Given the description of an element on the screen output the (x, y) to click on. 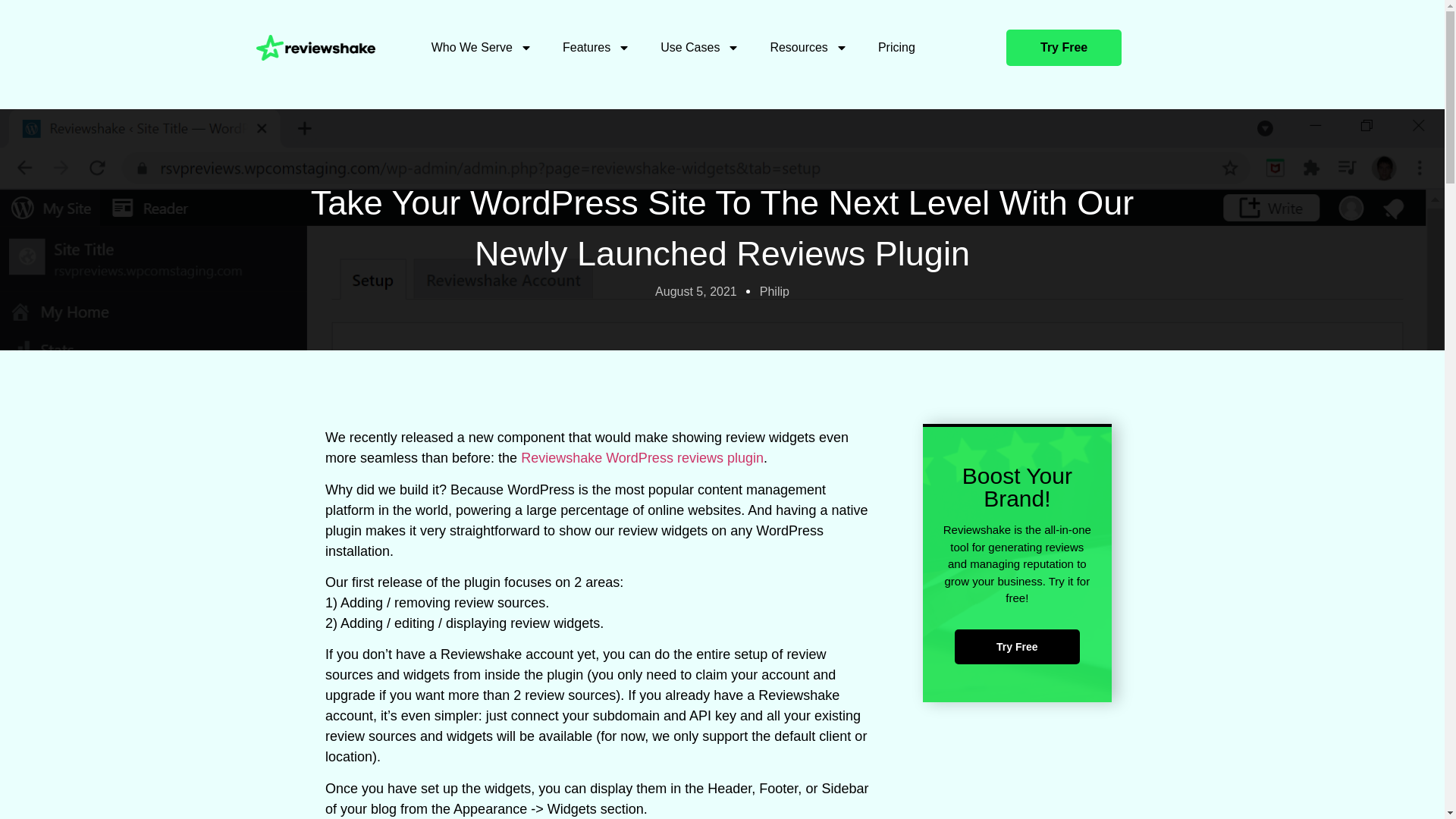
Who We Serve (481, 47)
Resources (807, 47)
Features (596, 47)
Pricing (896, 47)
Use Cases (699, 47)
